Given the description of an element on the screen output the (x, y) to click on. 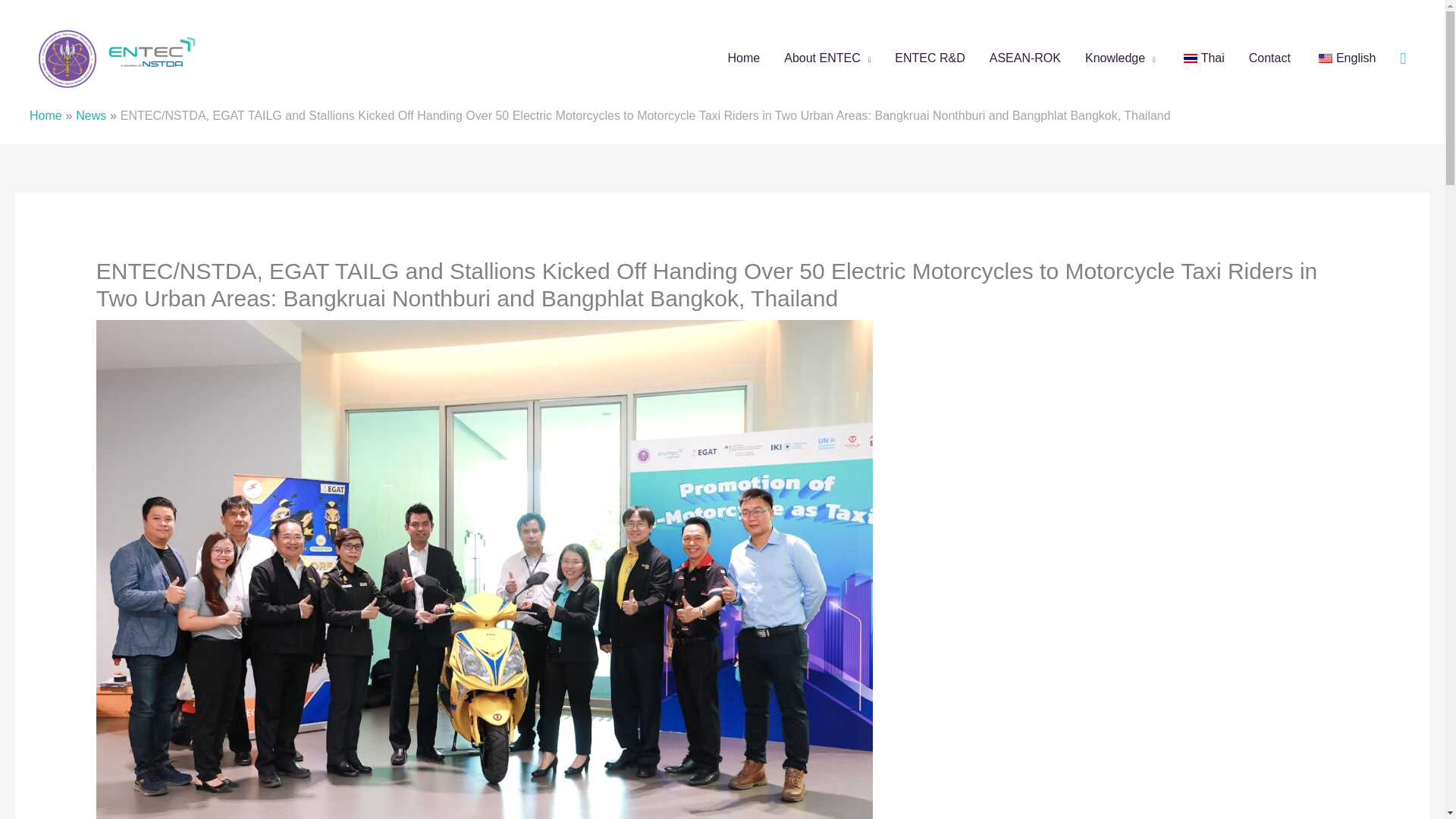
Knowledge (1120, 58)
Home (45, 115)
Contact (1269, 58)
Home (744, 58)
English (1325, 58)
Thai (1201, 58)
Thai (1189, 58)
About ENTEC (826, 58)
ASEAN-ROK (1024, 58)
English (1345, 58)
News (90, 115)
Search (1402, 58)
